Given the description of an element on the screen output the (x, y) to click on. 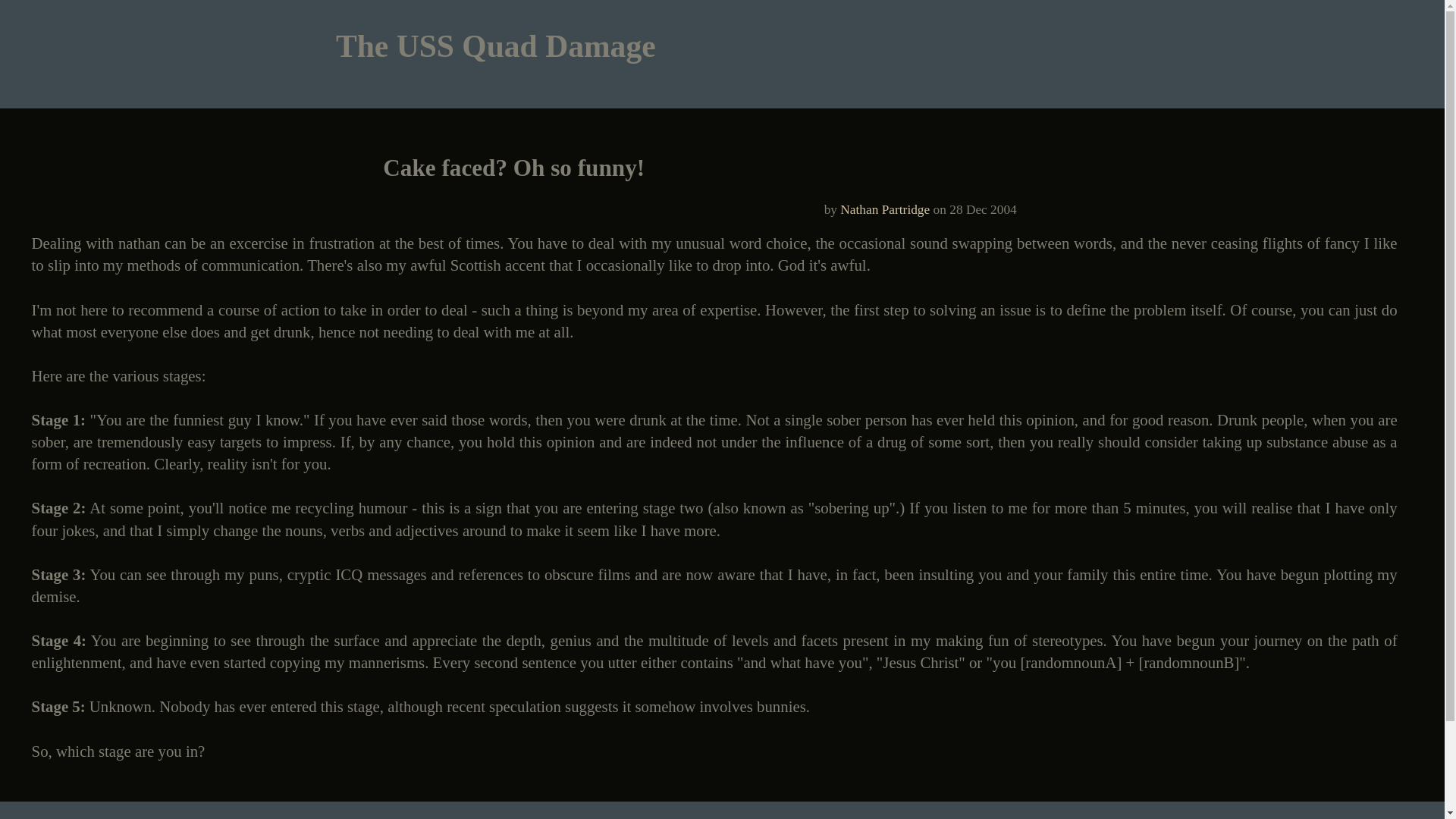
Nathan Partridge (885, 209)
